Given the description of an element on the screen output the (x, y) to click on. 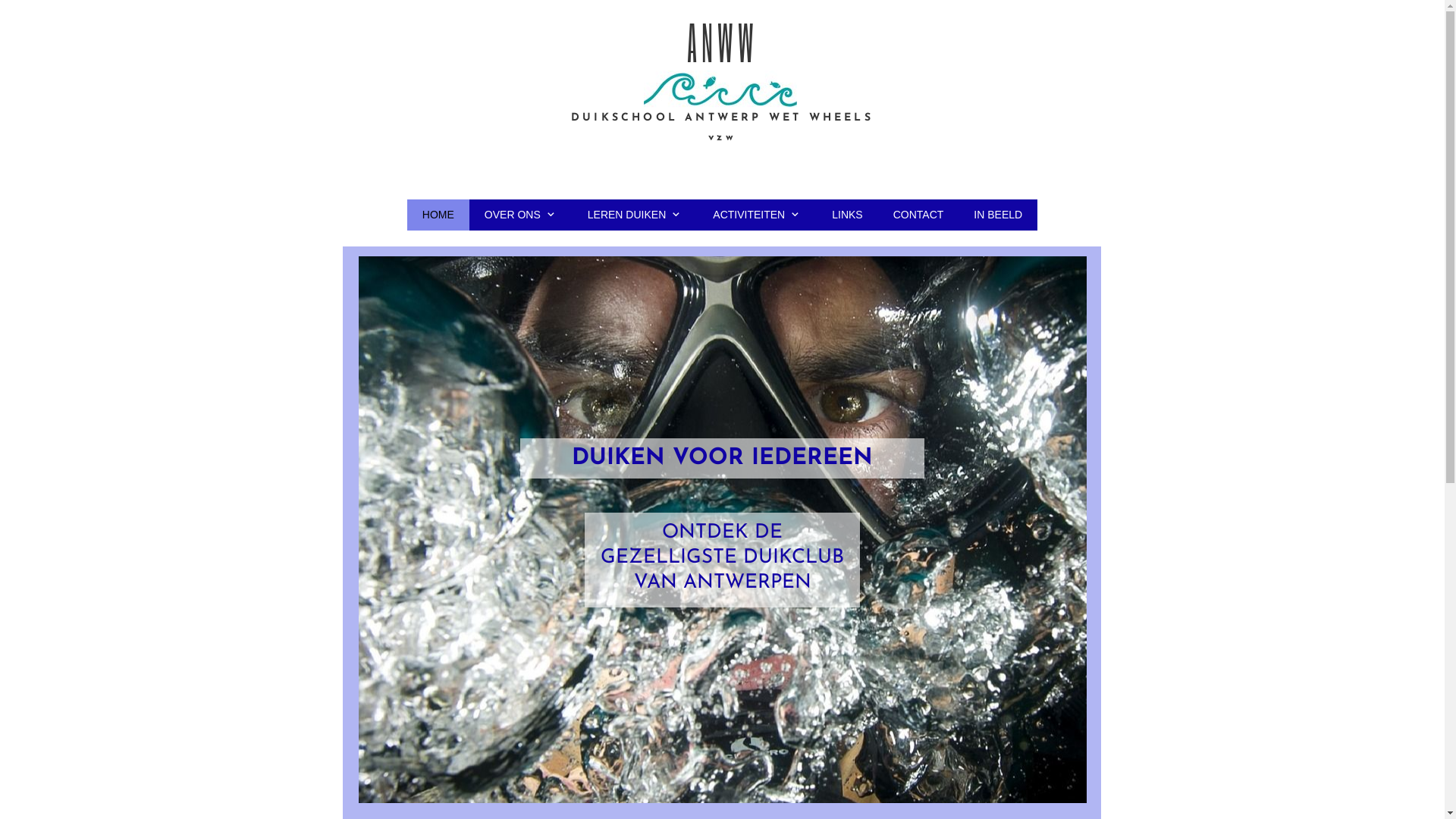
IN BEELD Element type: text (997, 213)
CONTACT Element type: text (918, 213)
HOME Element type: text (438, 213)
LEREN DUIKEN Element type: text (635, 213)
ACTIVITEITEN Element type: text (756, 213)
LINKS Element type: text (846, 213)
OVER ONS Element type: text (520, 213)
